Given the description of an element on the screen output the (x, y) to click on. 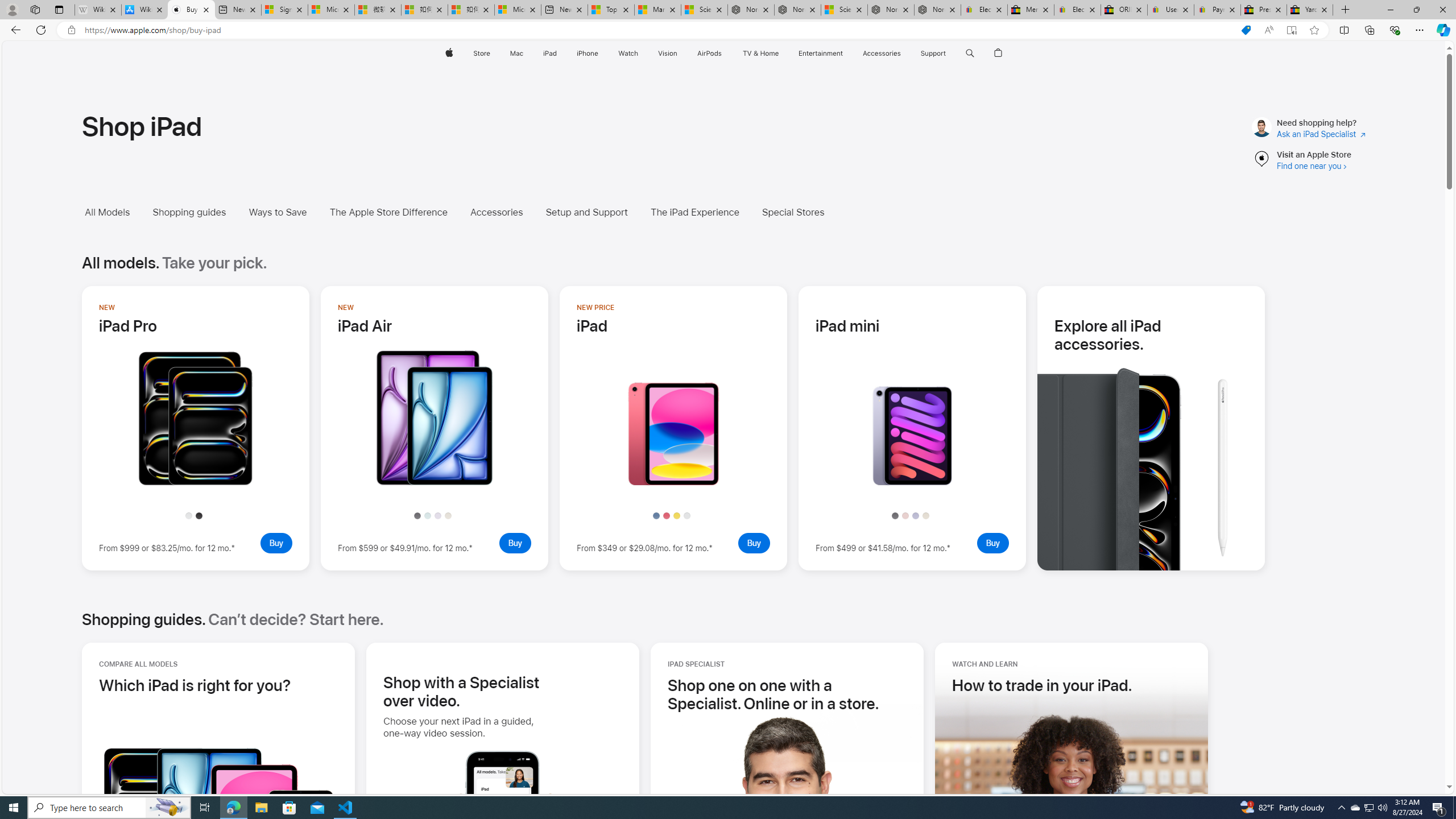
Nordace - FAQ (937, 9)
User Privacy Notice | eBay (1170, 9)
iPad (550, 53)
Support (932, 53)
The iPad Experience (694, 212)
Shop one on one with a Specialist. Online or in a store. (787, 693)
Class: globalnav-item globalnav-search shift-0-1 (969, 53)
Buy - iPad (754, 543)
Space Gray (894, 515)
Space Gray (894, 515)
iPhone (587, 53)
